Given the description of an element on the screen output the (x, y) to click on. 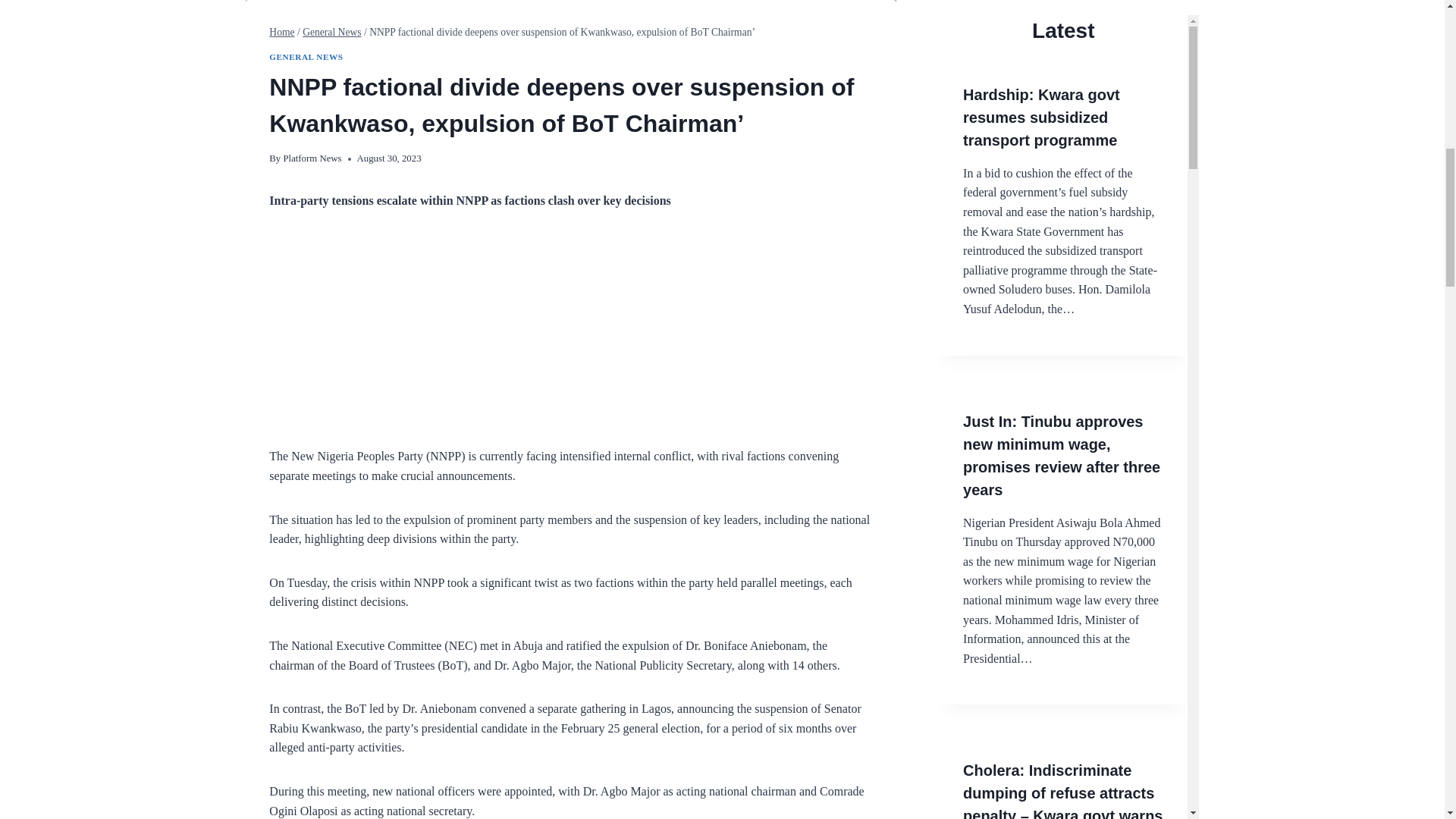
Platform News (311, 158)
GENERAL NEWS (305, 56)
Home (281, 31)
Advertisement (570, 340)
General News (331, 31)
